Given the description of an element on the screen output the (x, y) to click on. 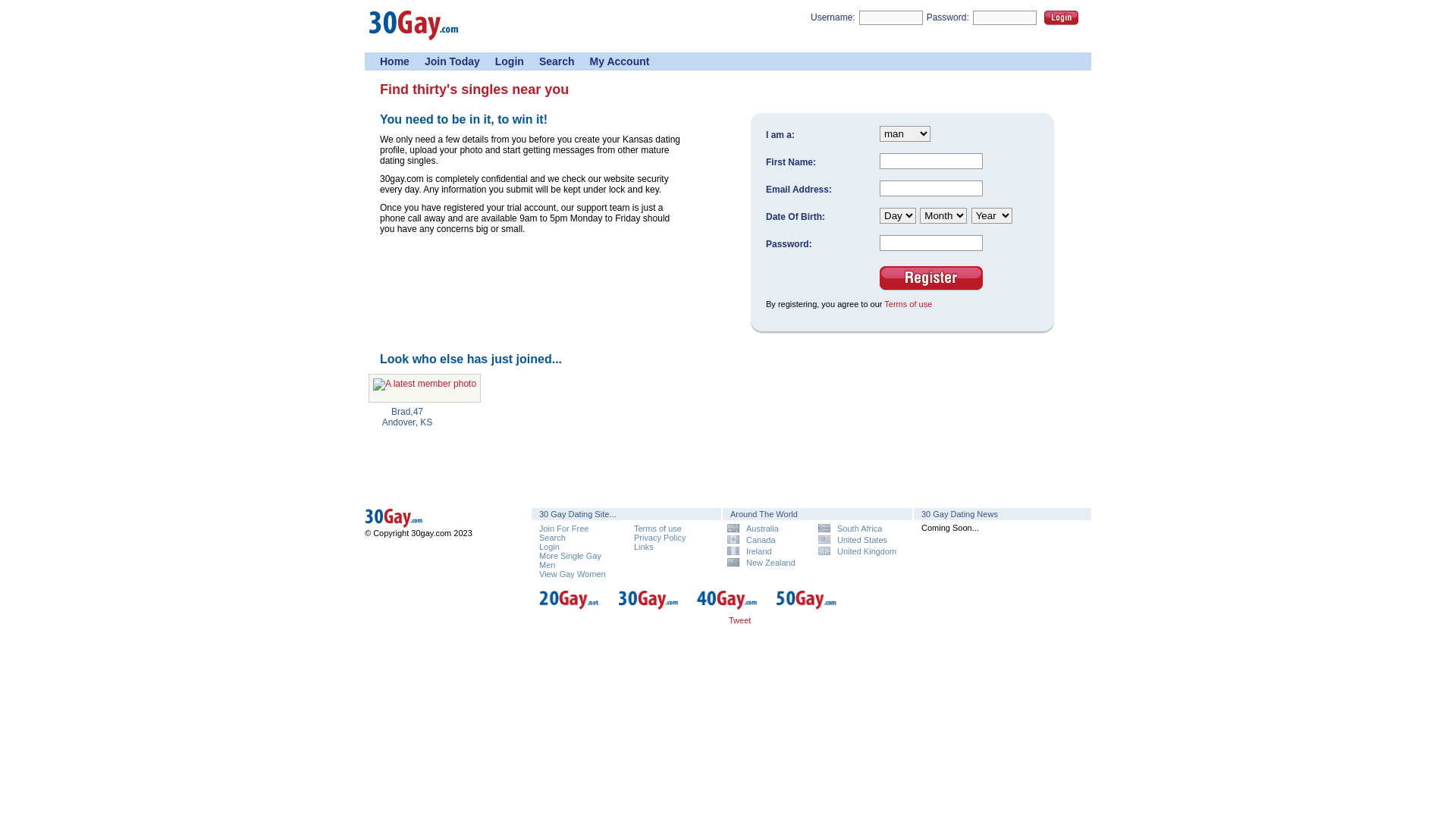
30 Gay Dating the United States Element type: hover (432, 518)
Terms of use Element type: text (657, 528)
Register Element type: text (930, 278)
Tweet Element type: text (739, 619)
South Africa Element type: text (857, 528)
Brad, 47 from Andover, KS Element type: hover (424, 387)
30 Gay Dating the United States Element type: hover (432, 525)
Ireland Element type: text (766, 550)
New Zealand Element type: text (766, 562)
My Account Element type: text (619, 61)
20 Gay Dating - 20gay.net Element type: hover (569, 606)
Login Element type: text (509, 61)
Search Element type: text (552, 537)
United Kingdom Element type: text (857, 550)
Canada Element type: text (766, 539)
30 Gay Dating Element type: hover (413, 38)
Join For Free Element type: text (563, 528)
Tell your friends about 30 Gay Dating Element type: text (825, 622)
More Single Gay Men Element type: text (570, 560)
Search Element type: text (556, 61)
View Gay Women Element type: text (572, 573)
50 Gay Dating - 50gay.com Element type: hover (806, 606)
Login Element type: text (1061, 17)
Terms of use Element type: text (907, 303)
United States Element type: text (857, 539)
Home Element type: text (394, 61)
30 Gay Dating - 30gay.com Element type: hover (648, 606)
Links Element type: text (643, 546)
Privacy Policy Element type: text (659, 537)
Australia Element type: text (766, 528)
Login Element type: text (549, 546)
Join Today Element type: text (452, 61)
40 Gay Dating - 40gay.com Element type: hover (727, 606)
